Given the description of an element on the screen output the (x, y) to click on. 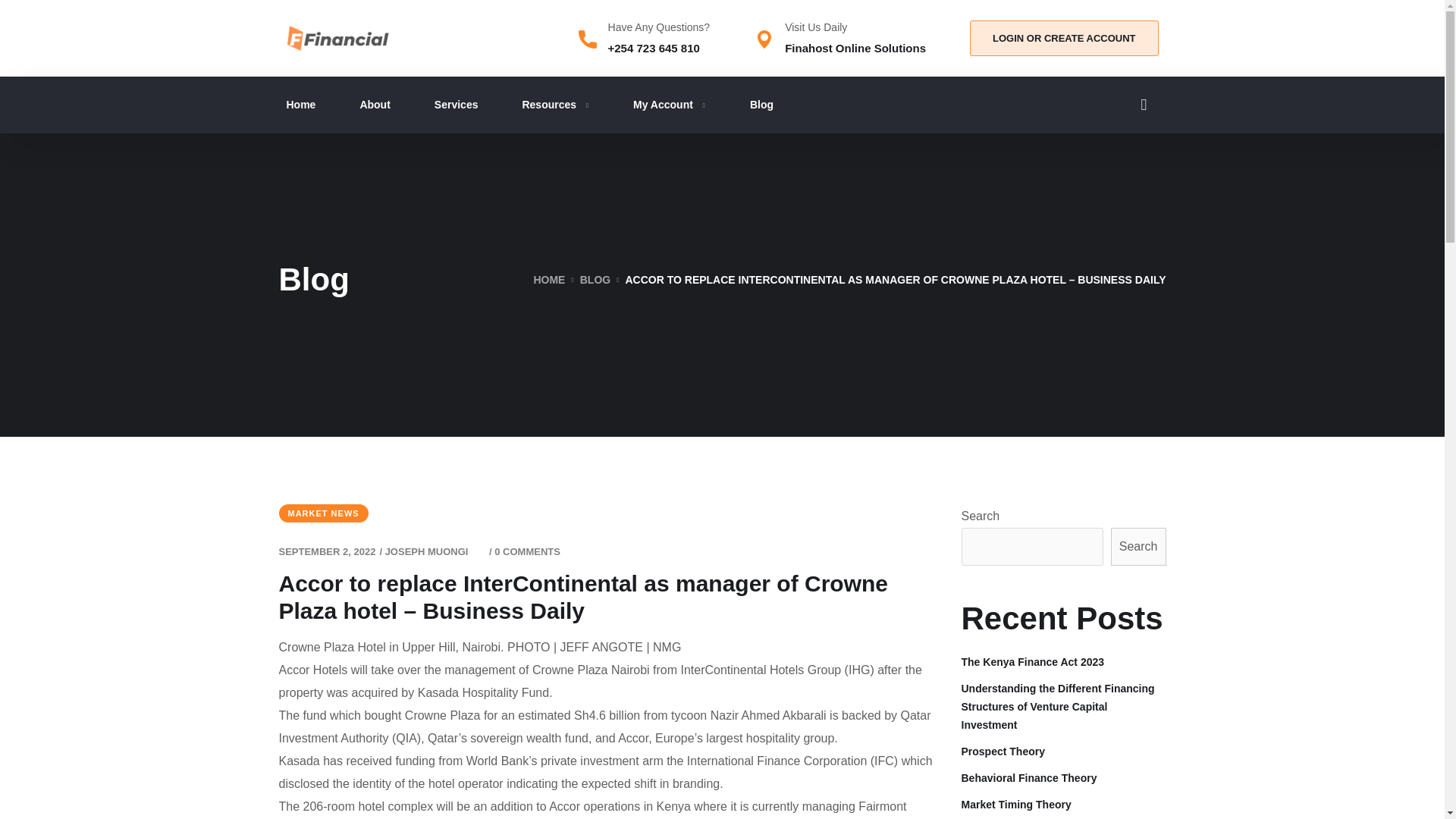
Have Any Questions? (659, 27)
My Account (669, 105)
LOGIN OR CREATE ACCOUNT (1063, 38)
Resources (555, 105)
Services (456, 105)
